Given the description of an element on the screen output the (x, y) to click on. 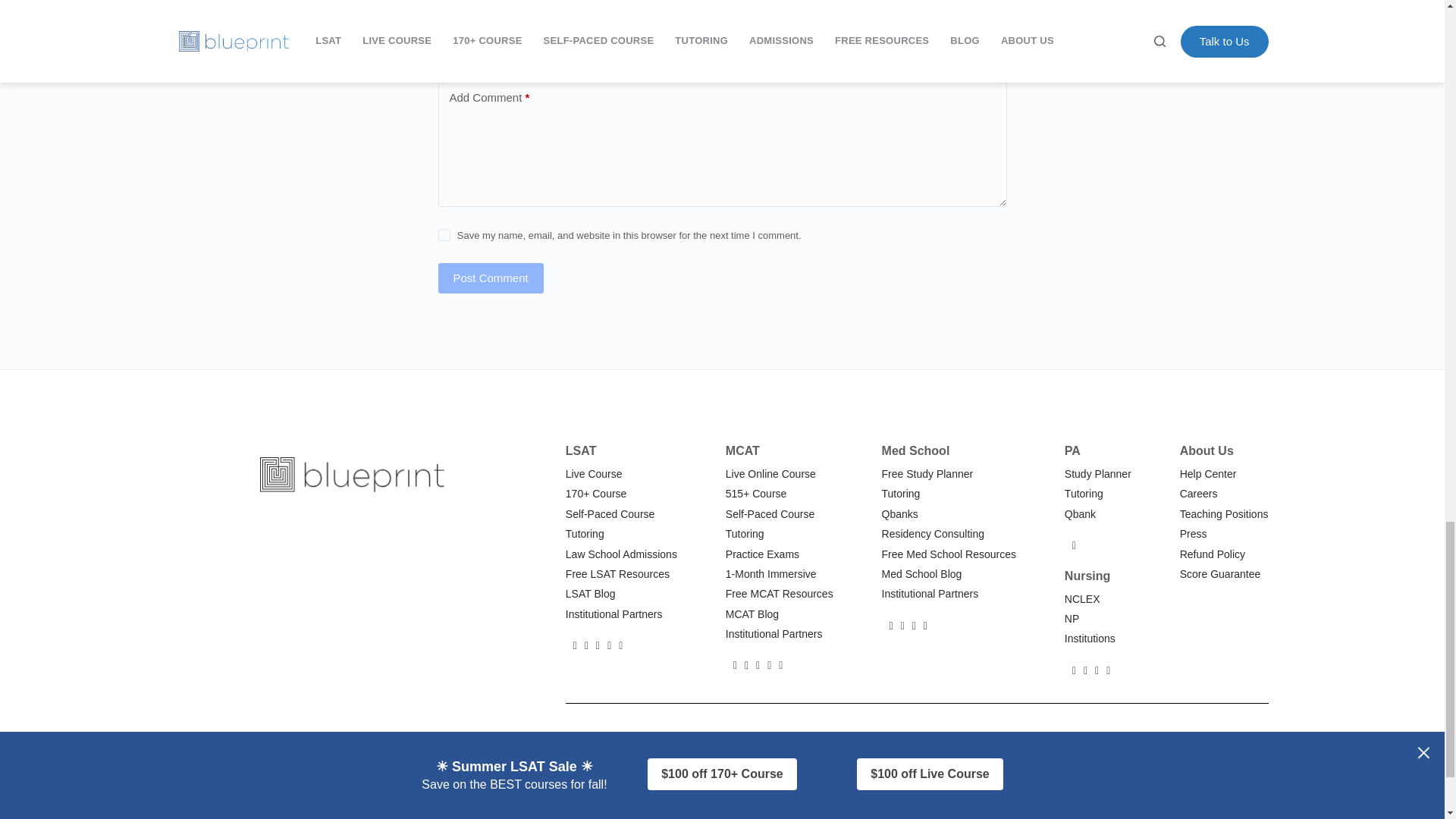
yes (443, 234)
